Given the description of an element on the screen output the (x, y) to click on. 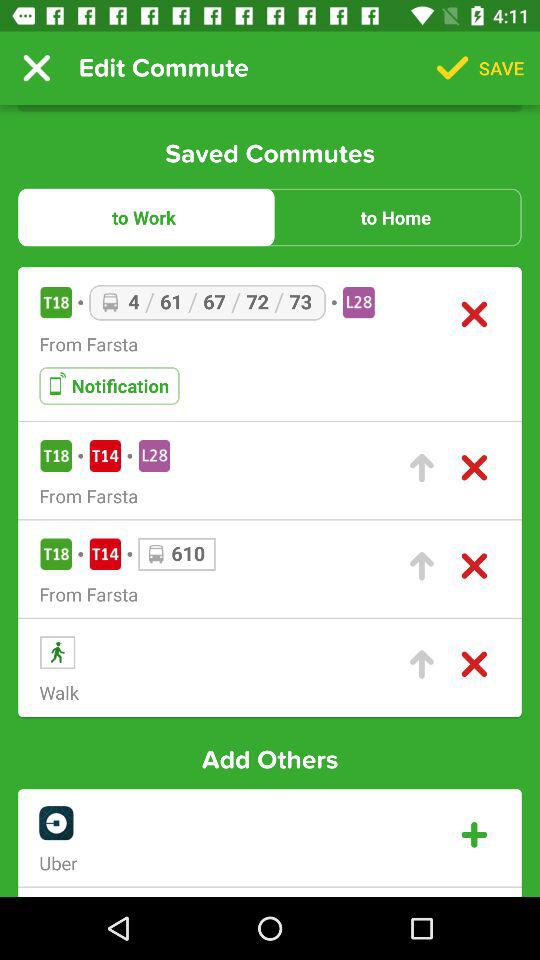
exit option (474, 467)
